Given the description of an element on the screen output the (x, y) to click on. 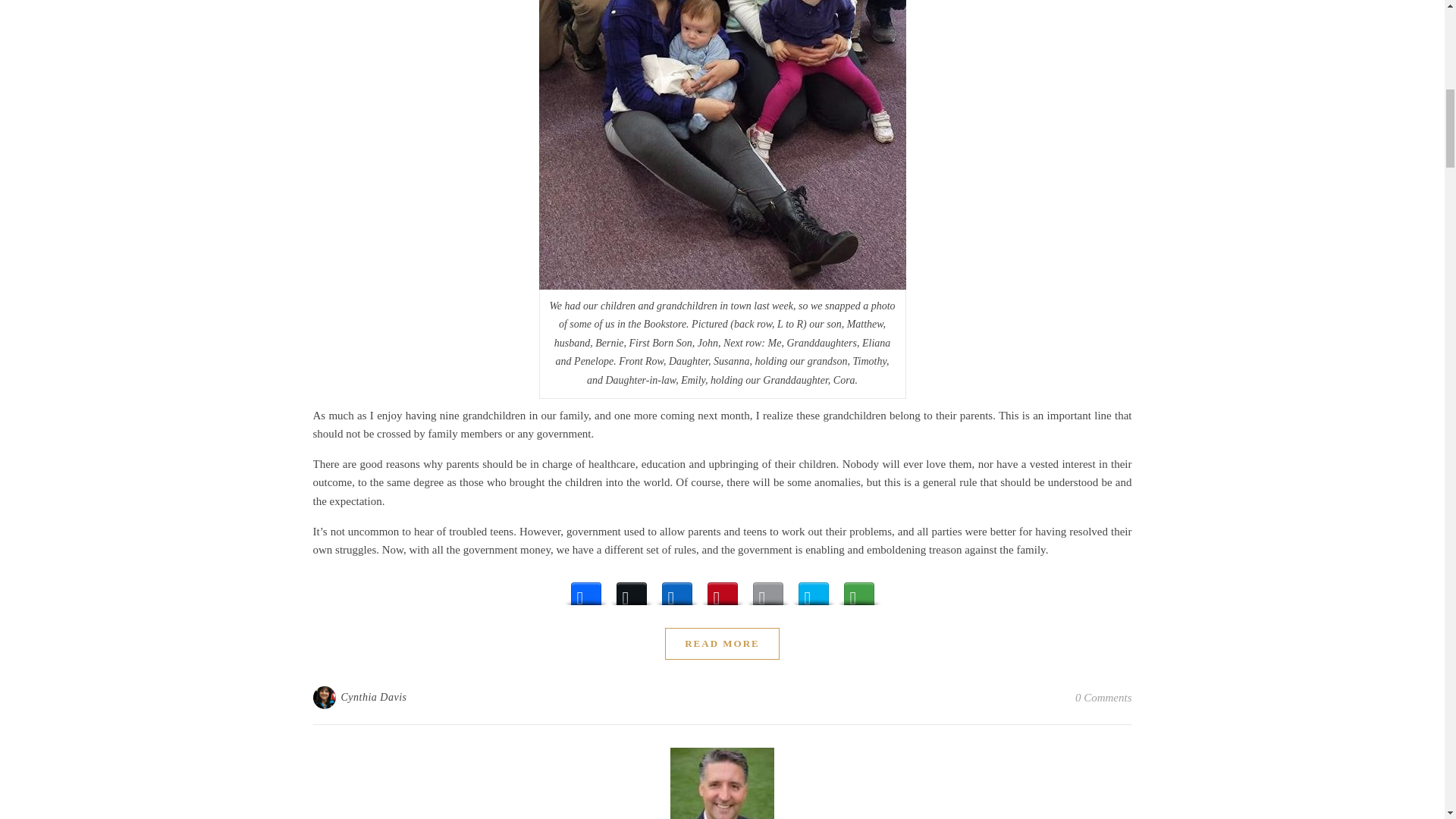
Cynthia Davis (373, 697)
0 Comments (1103, 697)
READ MORE (721, 644)
